Given the description of an element on the screen output the (x, y) to click on. 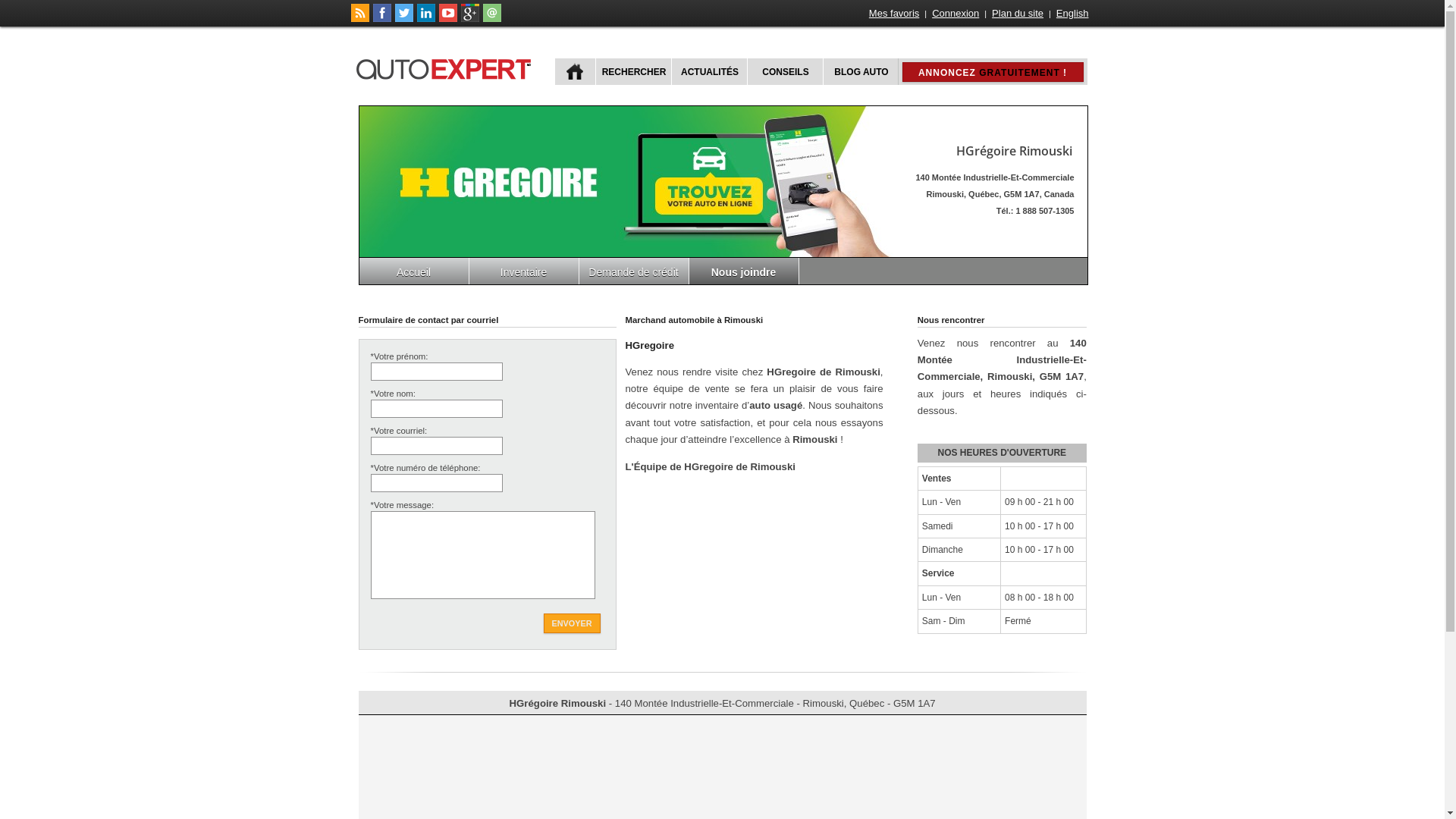
Nous joindre Element type: text (743, 270)
Suivez Publications Le Guide Inc. sur LinkedIn Element type: hover (426, 18)
autoExpert.ca Element type: text (446, 66)
ACCUEIL Element type: text (575, 71)
CONSEILS Element type: text (783, 71)
BLOG AUTO Element type: text (859, 71)
Suivez autoExpert.ca sur Facebook Element type: hover (382, 18)
Connexion Element type: text (955, 13)
Accueil Element type: text (414, 270)
Inventaire Element type: text (523, 270)
Suivez autoExpert.ca sur Twitter Element type: hover (403, 18)
Envoyer Element type: text (571, 623)
Joindre autoExpert.ca Element type: hover (491, 18)
RECHERCHER Element type: text (631, 71)
Mes favoris Element type: text (893, 13)
ANNONCEZ GRATUITEMENT ! Element type: text (992, 71)
English Element type: text (1072, 13)
Suivez autoExpert.ca sur Youtube Element type: hover (447, 18)
Plan du site Element type: text (1017, 13)
Suivez autoExpert.ca sur Google Plus Element type: hover (470, 18)
